Given the description of an element on the screen output the (x, y) to click on. 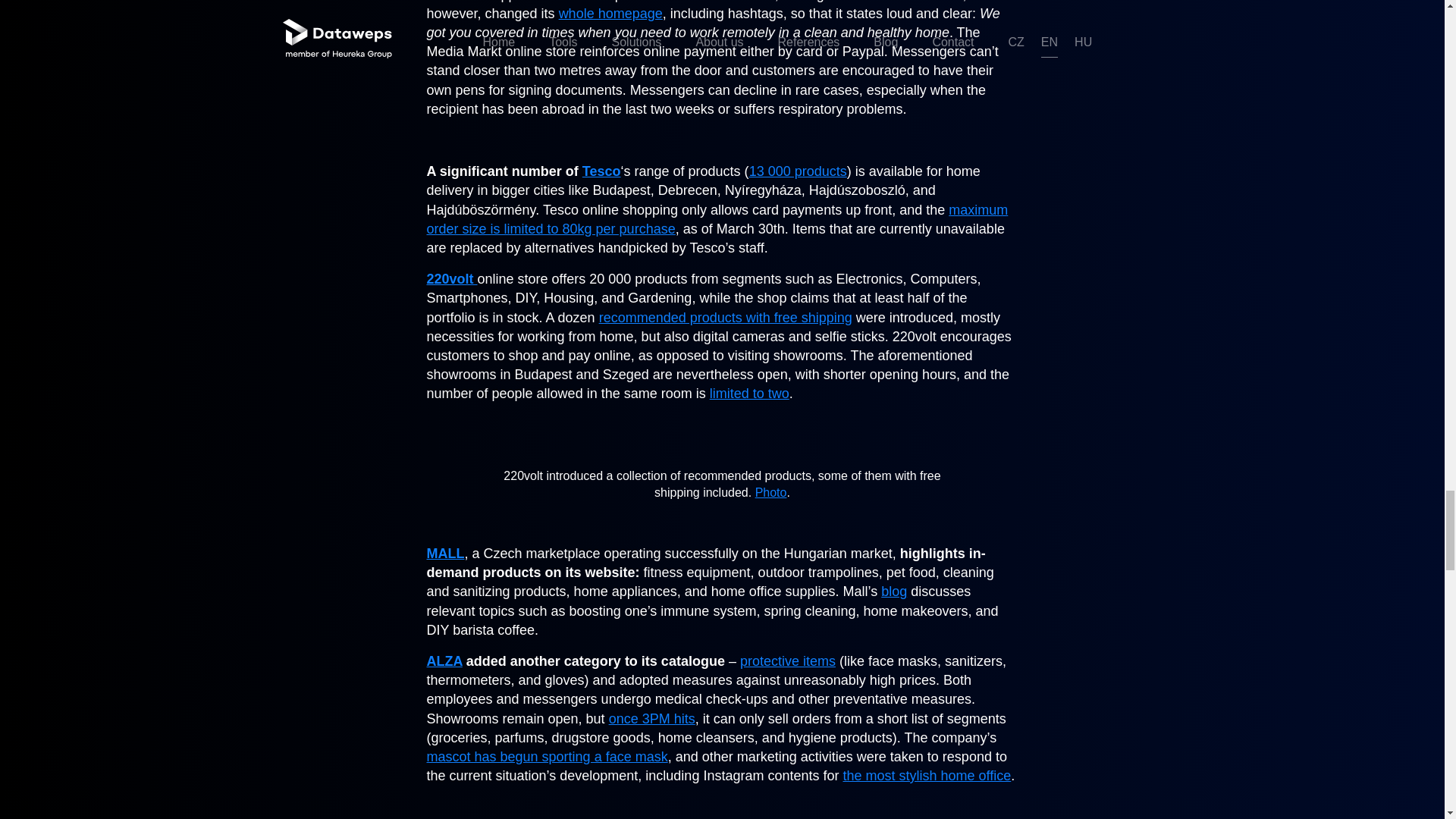
Tesco (601, 171)
13 000 products (798, 171)
whole homepage (610, 13)
